Given the description of an element on the screen output the (x, y) to click on. 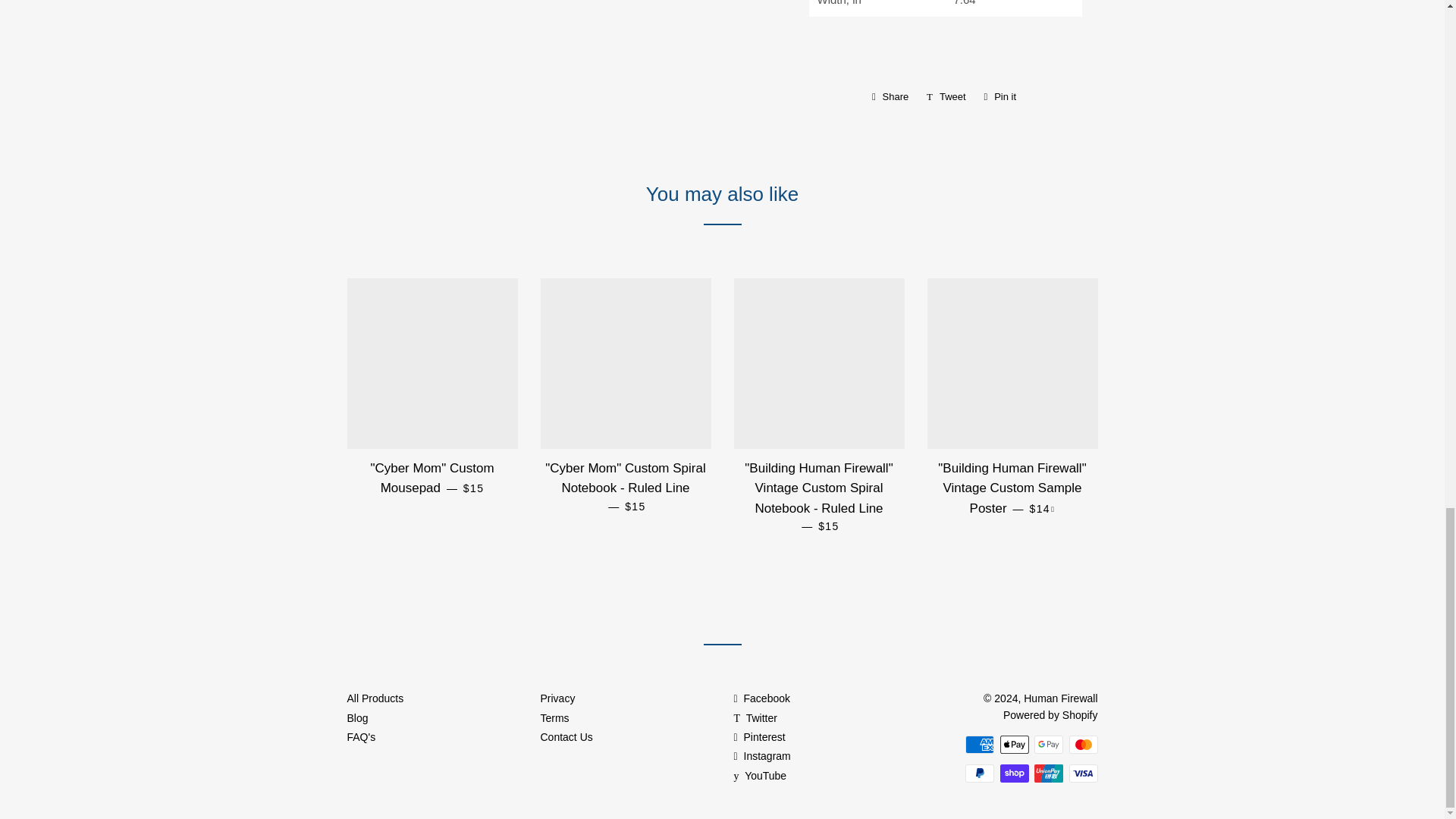
Share on Facebook (889, 96)
Apple Pay (1012, 744)
Visa (1082, 773)
Pin on Pinterest (1000, 96)
Human Firewall on Twitter (755, 717)
Shop Pay (1012, 773)
Mastercard (1082, 744)
Union Pay (1047, 773)
Tweet on Twitter (946, 96)
Human Firewall on Instagram (761, 756)
